Given the description of an element on the screen output the (x, y) to click on. 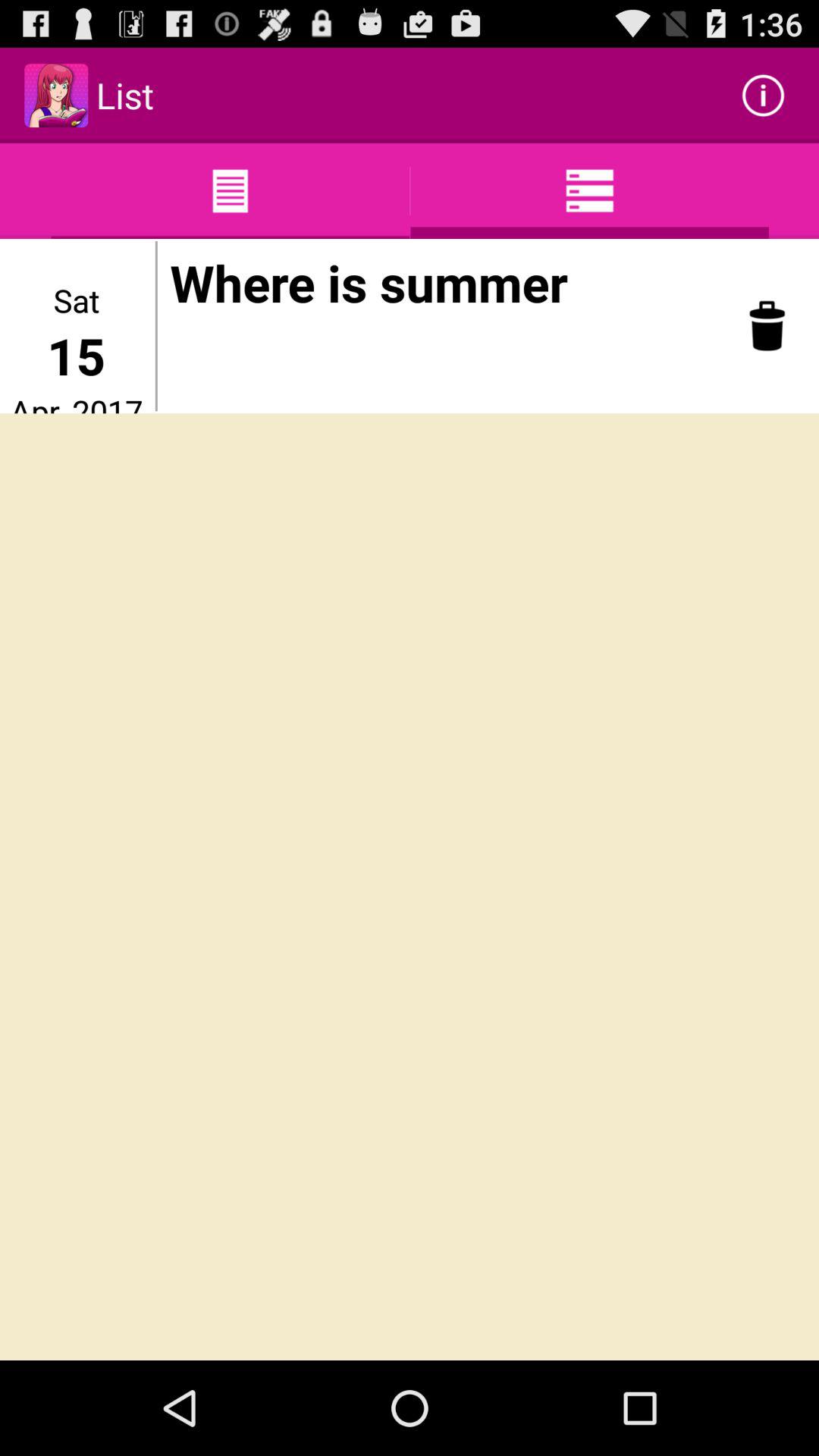
select the apr, 2017 item (76, 401)
